Given the description of an element on the screen output the (x, y) to click on. 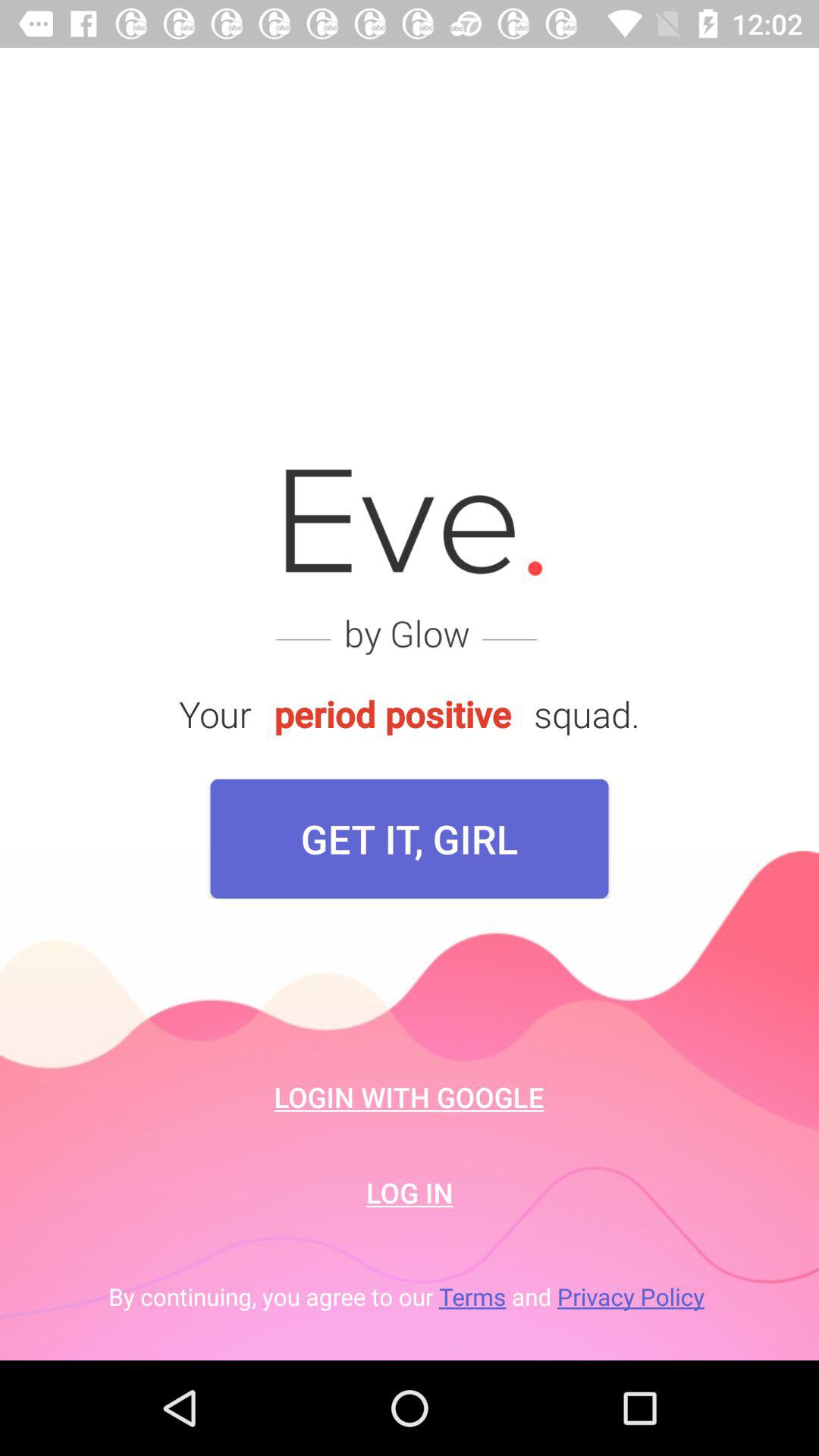
flip until by continuing you icon (409, 1296)
